Given the description of an element on the screen output the (x, y) to click on. 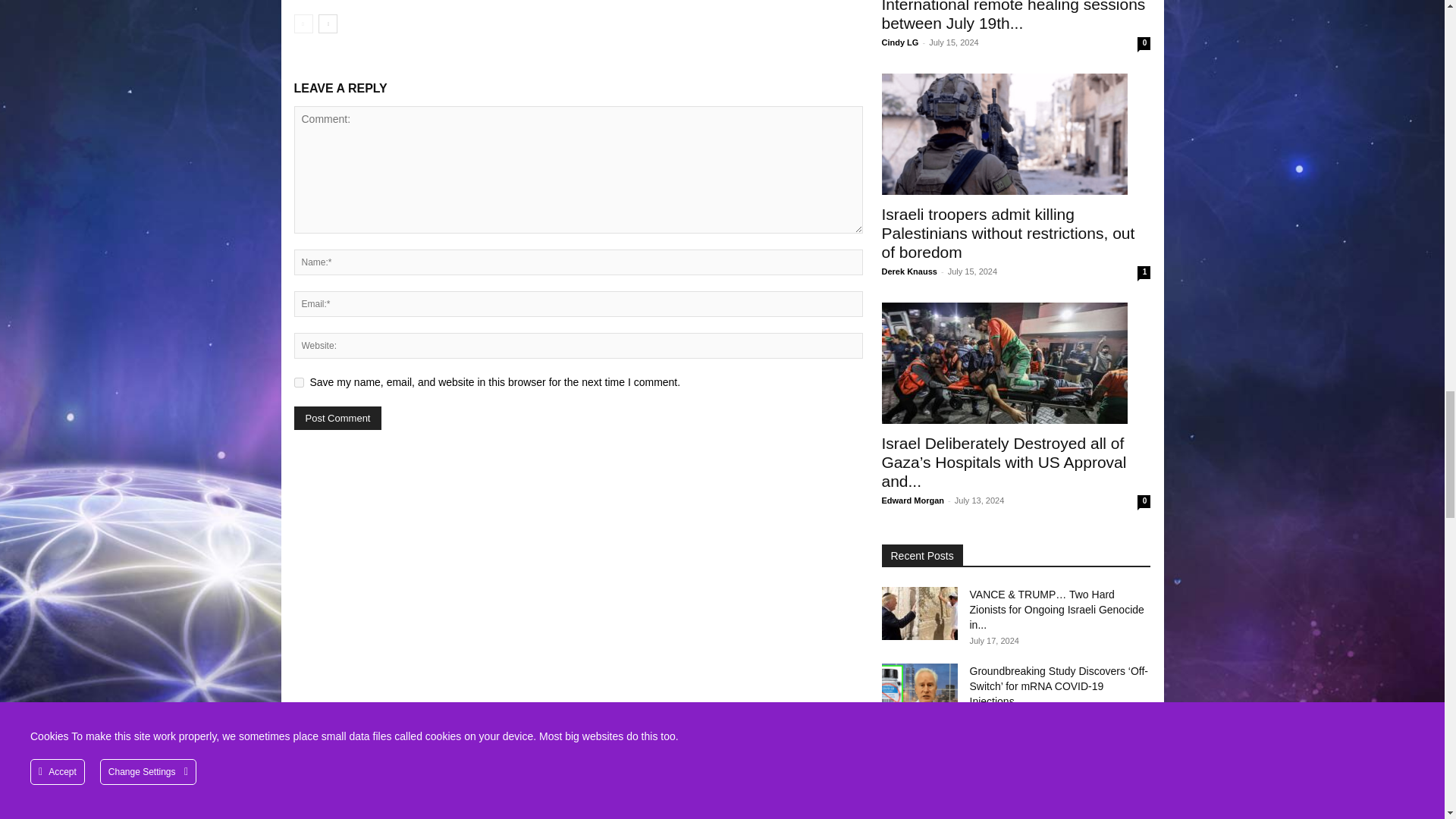
yes (299, 382)
Post Comment (337, 417)
